Given the description of an element on the screen output the (x, y) to click on. 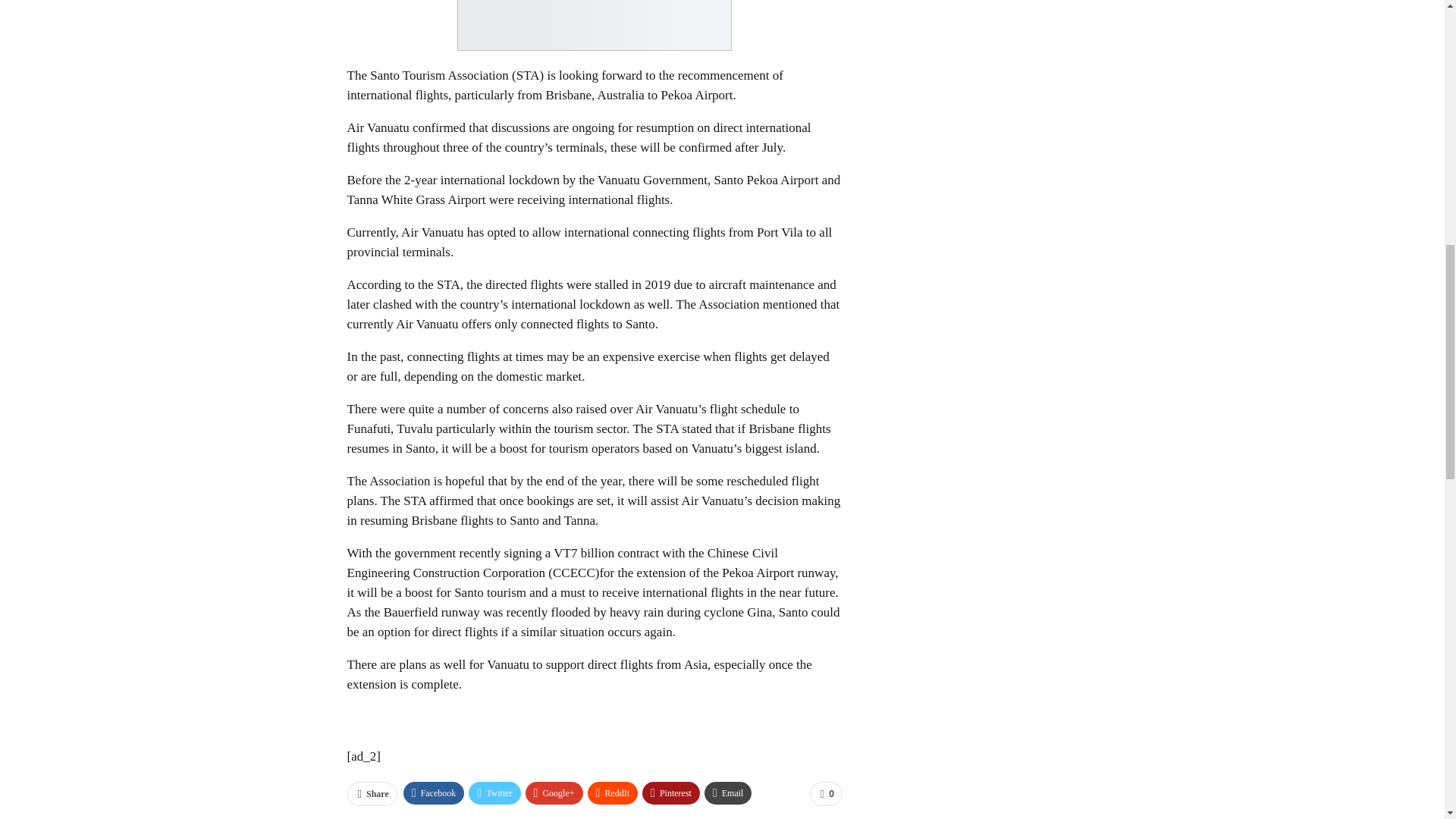
ReddIt (613, 793)
Facebook (433, 793)
Twitter (493, 793)
0 (826, 793)
